Given the description of an element on the screen output the (x, y) to click on. 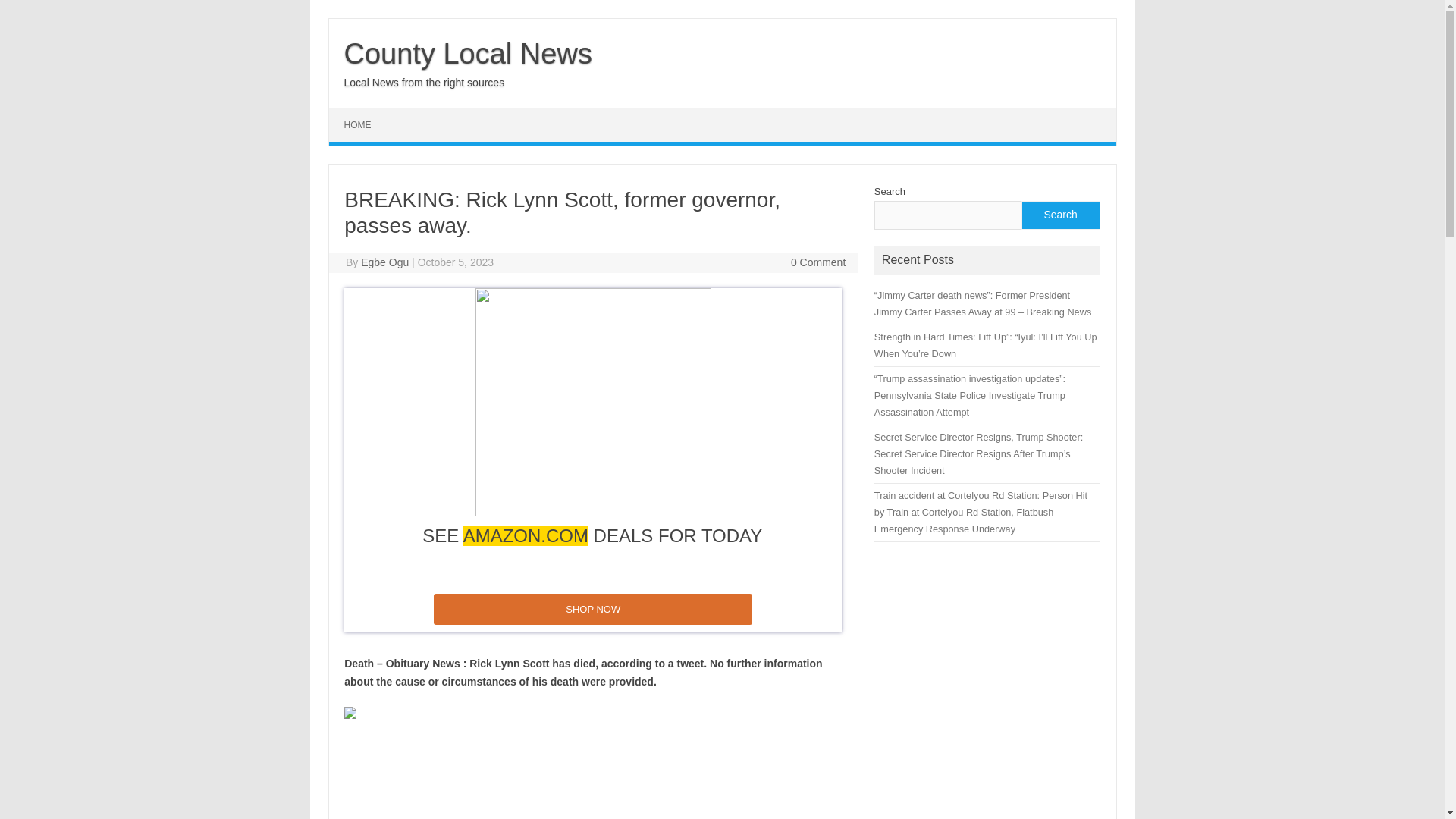
Local News from the right sources (424, 82)
Egbe Ogu (385, 262)
Posts by Egbe Ogu (385, 262)
YouTube video player (555, 782)
0 Comment (817, 262)
HOME (358, 124)
Search (1059, 215)
County Local News (467, 53)
County Local News (467, 53)
